Given the description of an element on the screen output the (x, y) to click on. 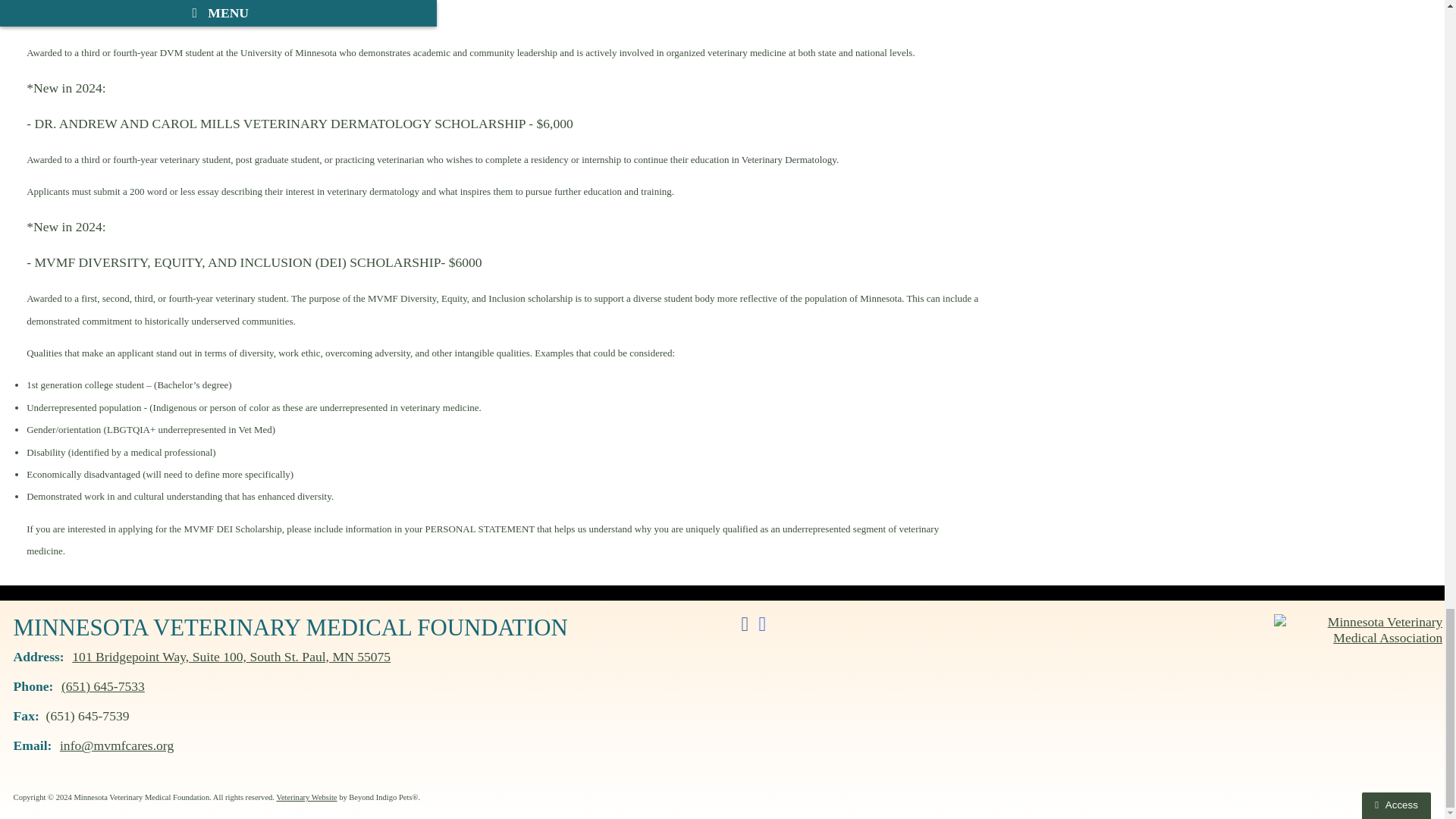
Veterinary Website (306, 797)
101 Bridgepoint Way, Suite 100, South St. Paul, MN 55075 (231, 656)
Beyond Indigo Pets (306, 797)
MVMA (1358, 628)
Minnesota Veterinary Medical Association (1358, 630)
